Given the description of an element on the screen output the (x, y) to click on. 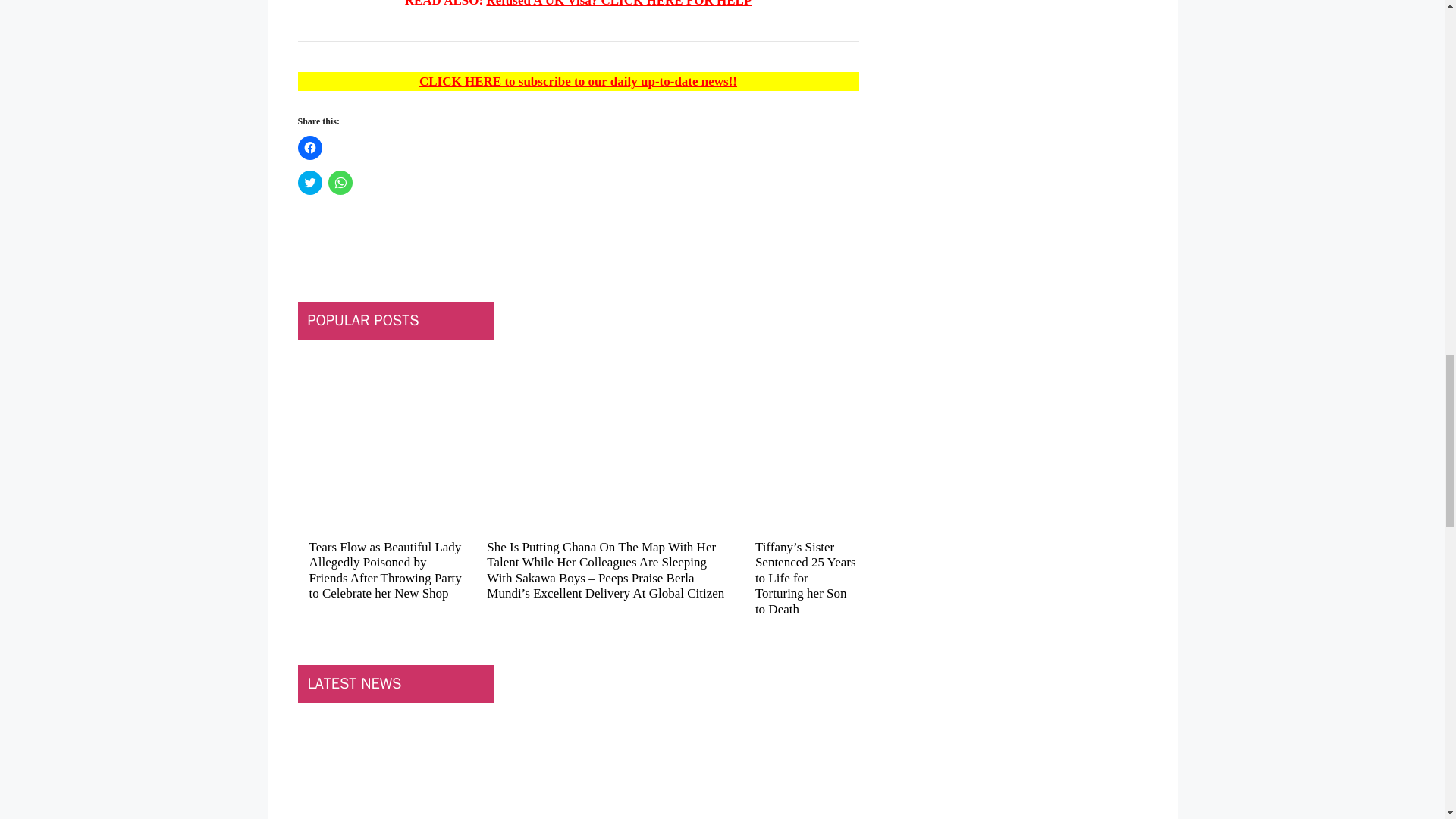
Click to share on WhatsApp (339, 182)
Click to share on Facebook (309, 147)
Click to share on Twitter (309, 182)
